Given the description of an element on the screen output the (x, y) to click on. 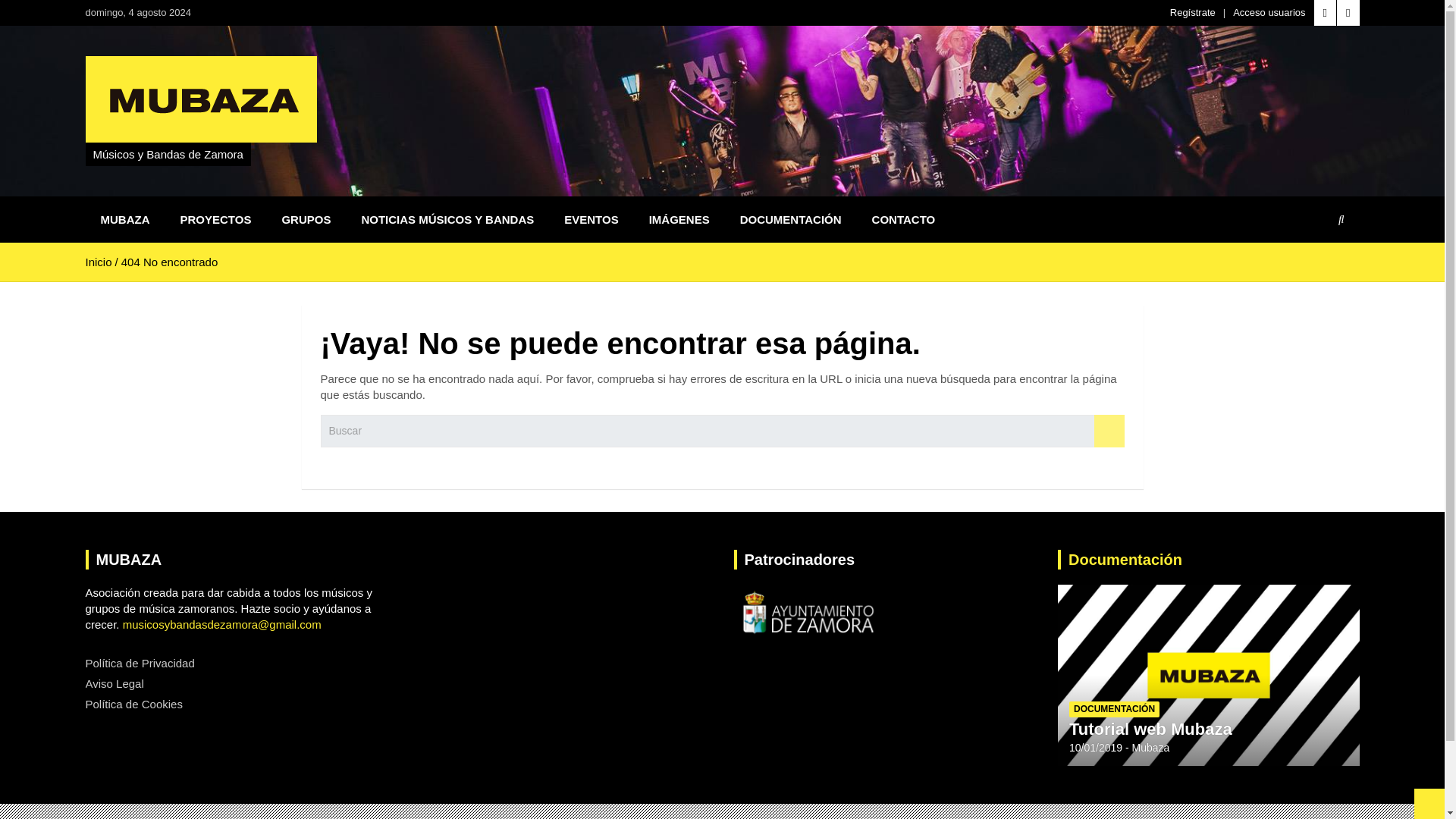
Mubaza (1151, 747)
CONTACTO (903, 219)
GRUPOS (306, 219)
Buscar (1108, 430)
Acceso usuarios (1268, 12)
EVENTOS (590, 219)
Inicio (98, 261)
Tutorial web Mubaza (1095, 747)
MUBAZA (124, 219)
Tutorial web Mubaza (1149, 728)
Aviso Legal (113, 683)
PROYECTOS (215, 219)
